Given the description of an element on the screen output the (x, y) to click on. 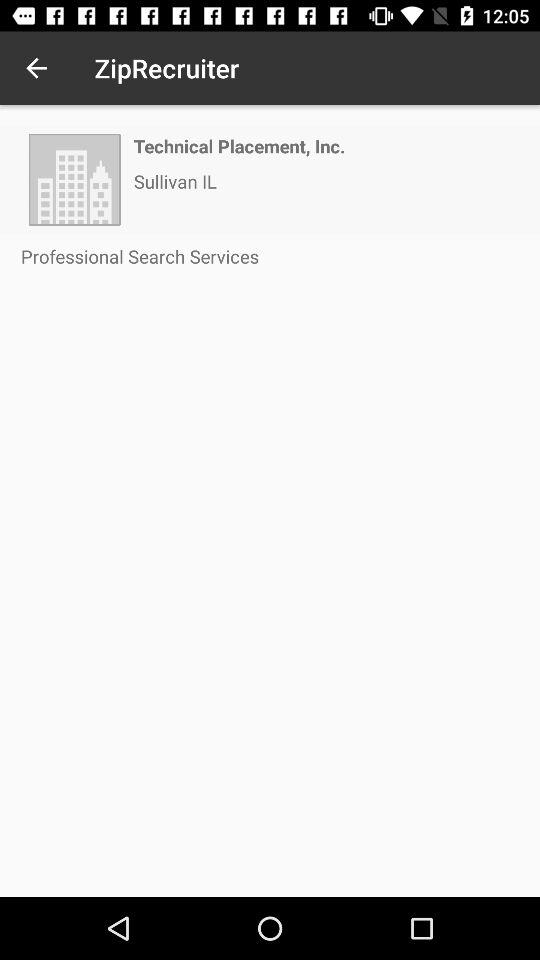
tap the icon next to ziprecruiter item (36, 68)
